Given the description of an element on the screen output the (x, y) to click on. 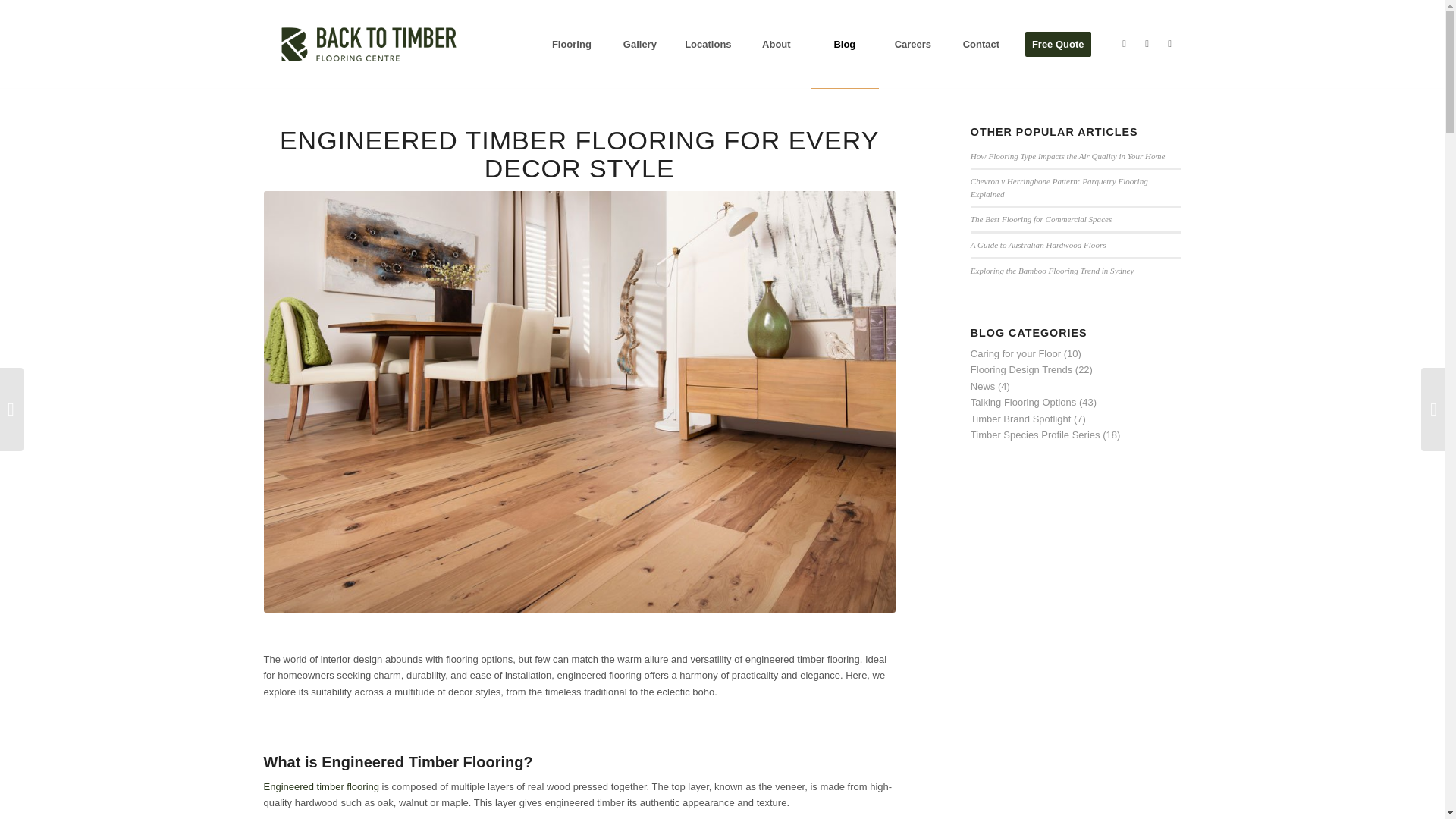
WhatsApp (1169, 43)
Facebook (1124, 43)
Instagram (1146, 43)
